Given the description of an element on the screen output the (x, y) to click on. 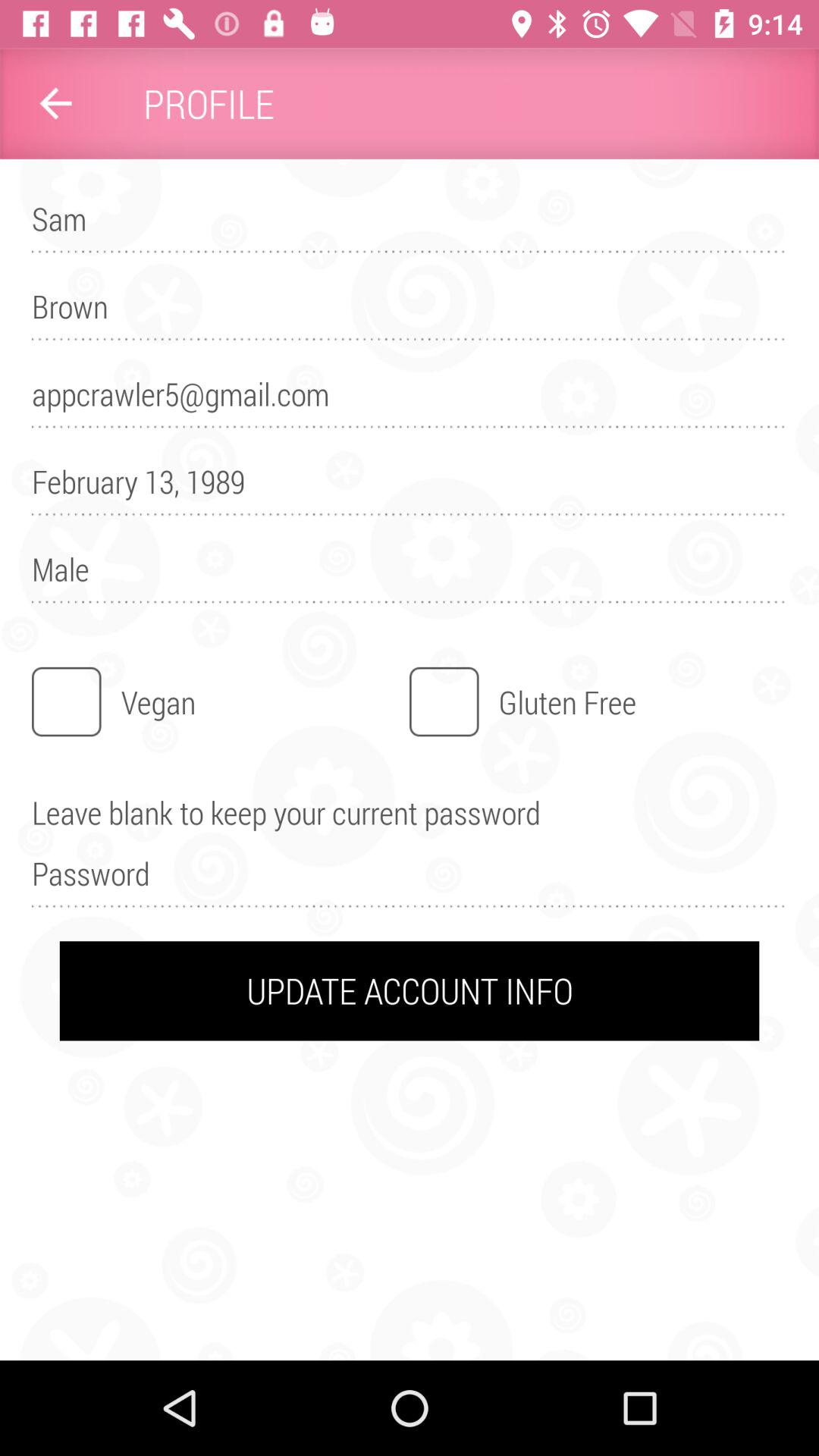
jump to february 13, 1989 item (409, 488)
